Given the description of an element on the screen output the (x, y) to click on. 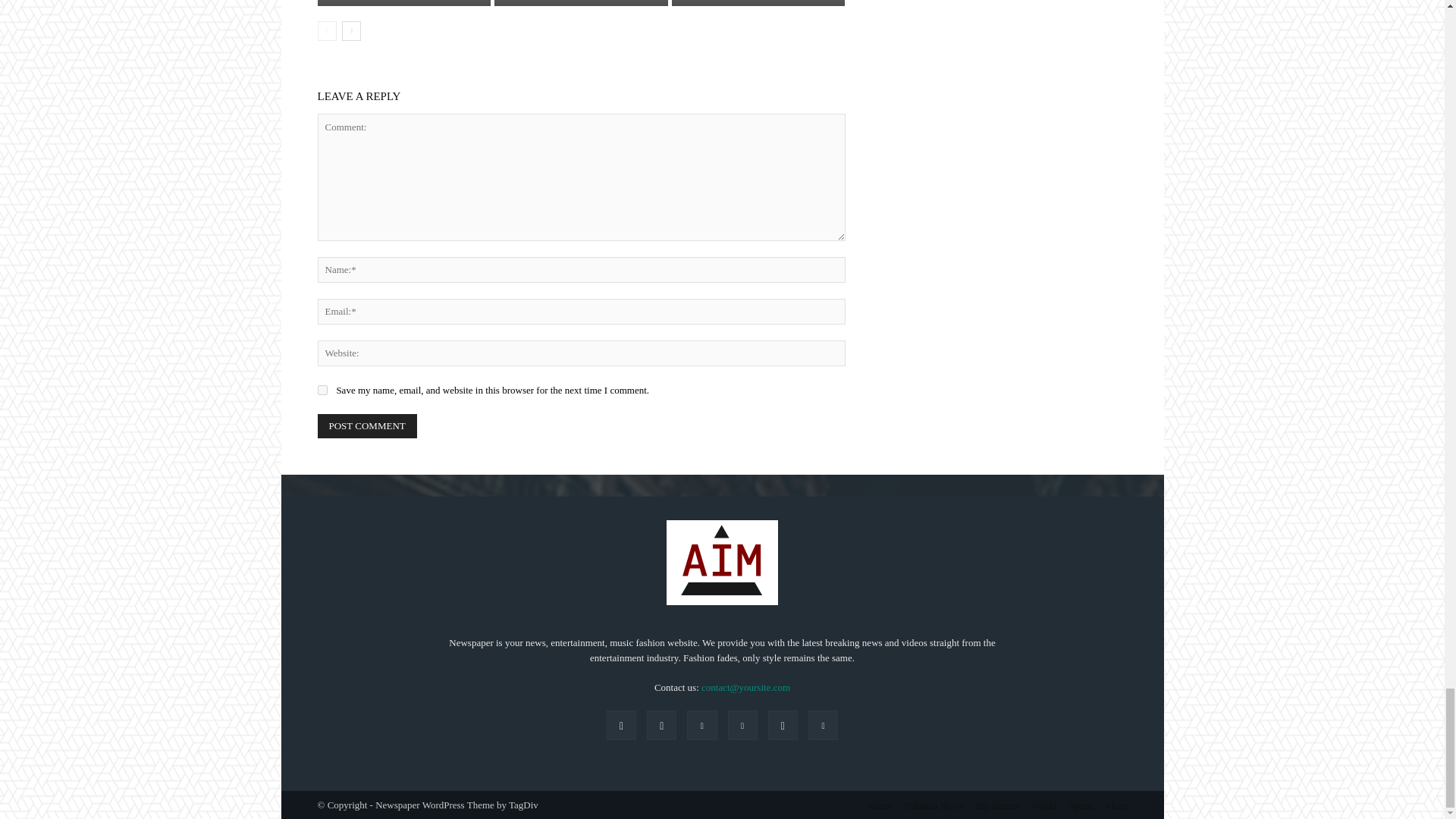
Post Comment (366, 426)
yes (321, 389)
